Given the description of an element on the screen output the (x, y) to click on. 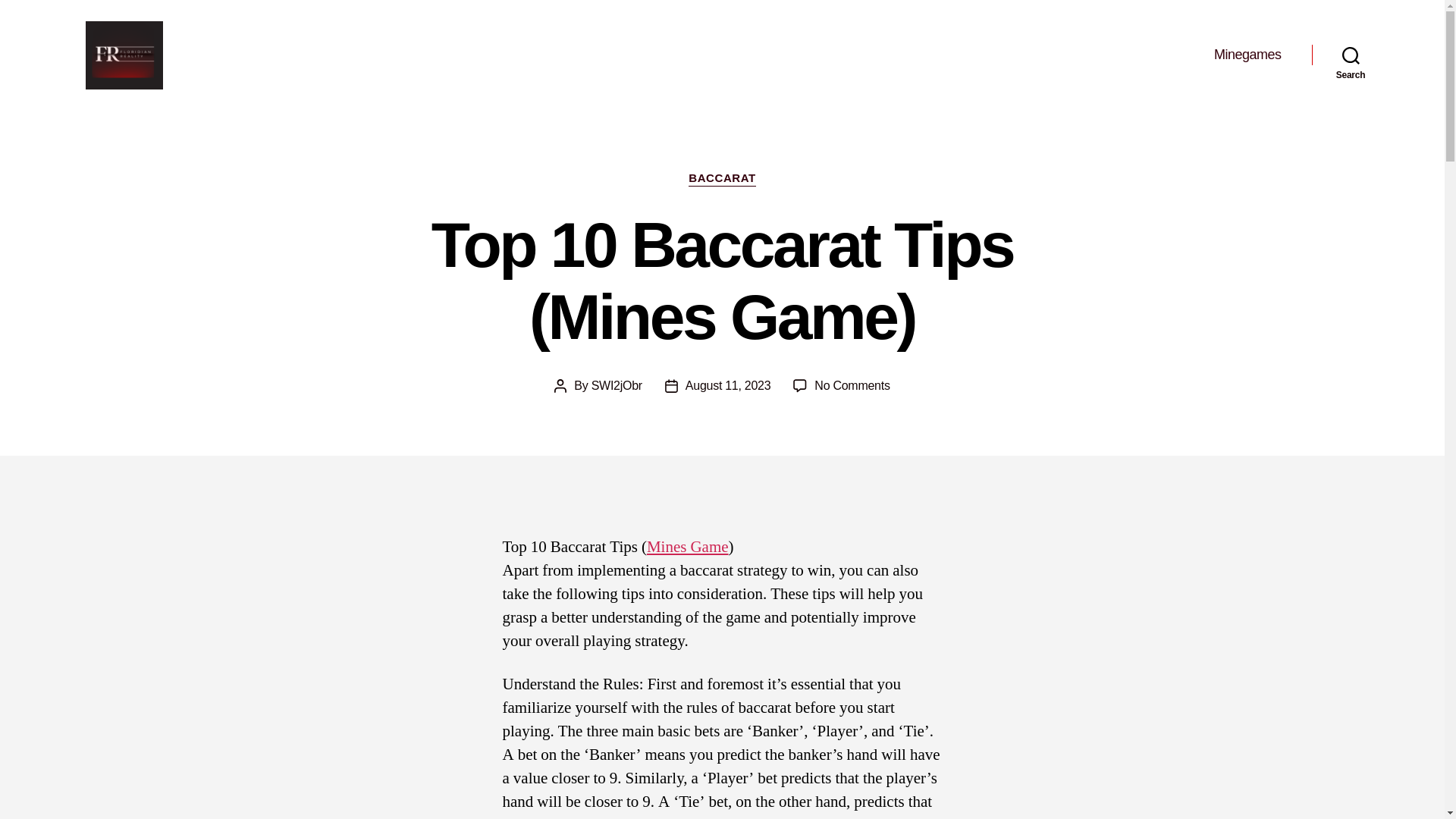
BACCARAT (721, 178)
August 11, 2023 (728, 385)
SWI2jObr (616, 385)
Mines Game (687, 547)
Minegames (1247, 54)
Search (1350, 55)
